Given the description of an element on the screen output the (x, y) to click on. 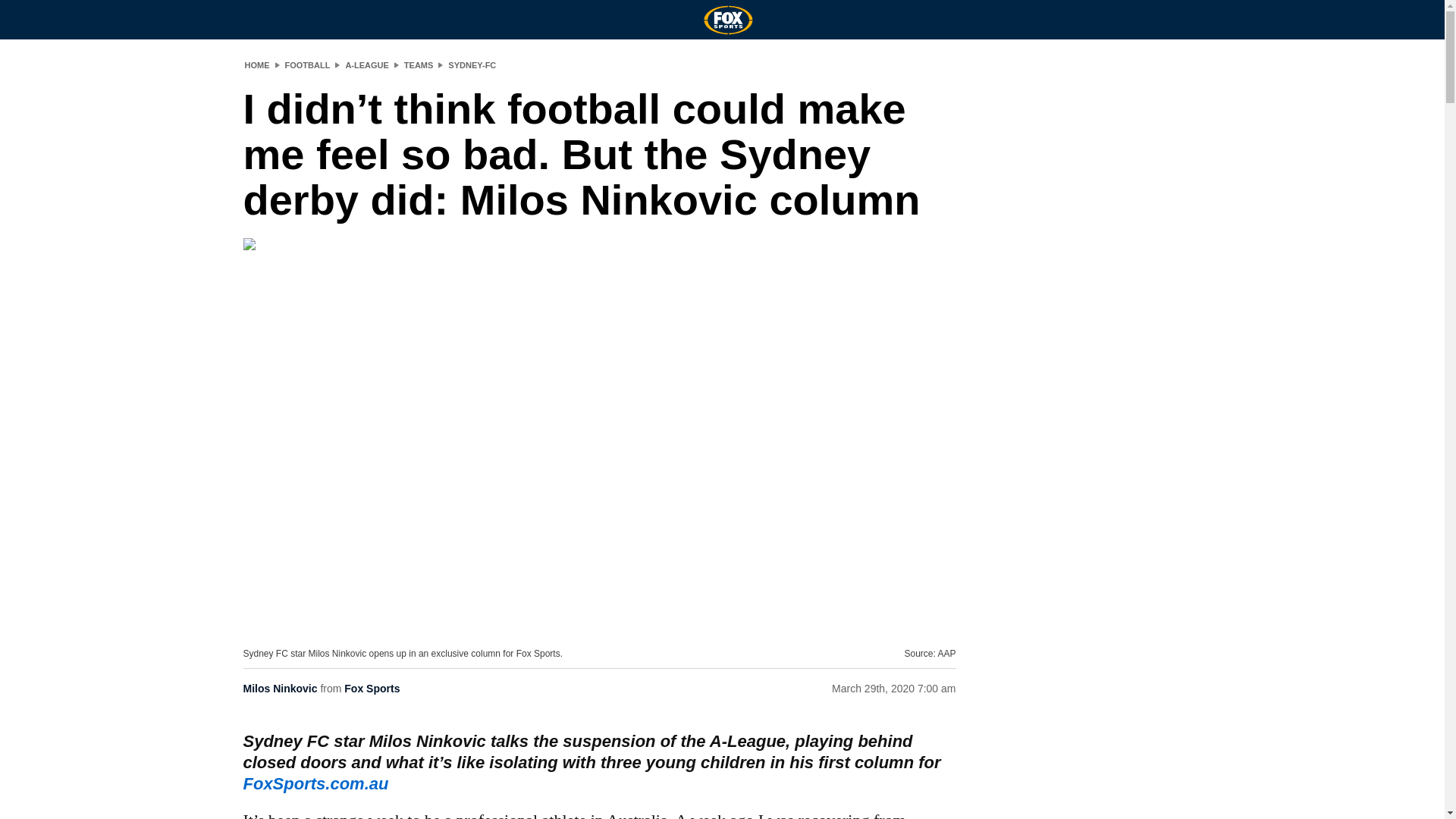
TEAMS (419, 64)
FoxSports.com.au (315, 783)
HOME (256, 64)
FOOTBALL (307, 64)
SYDNEY-FC (471, 64)
A-LEAGUE (366, 64)
